Given the description of an element on the screen output the (x, y) to click on. 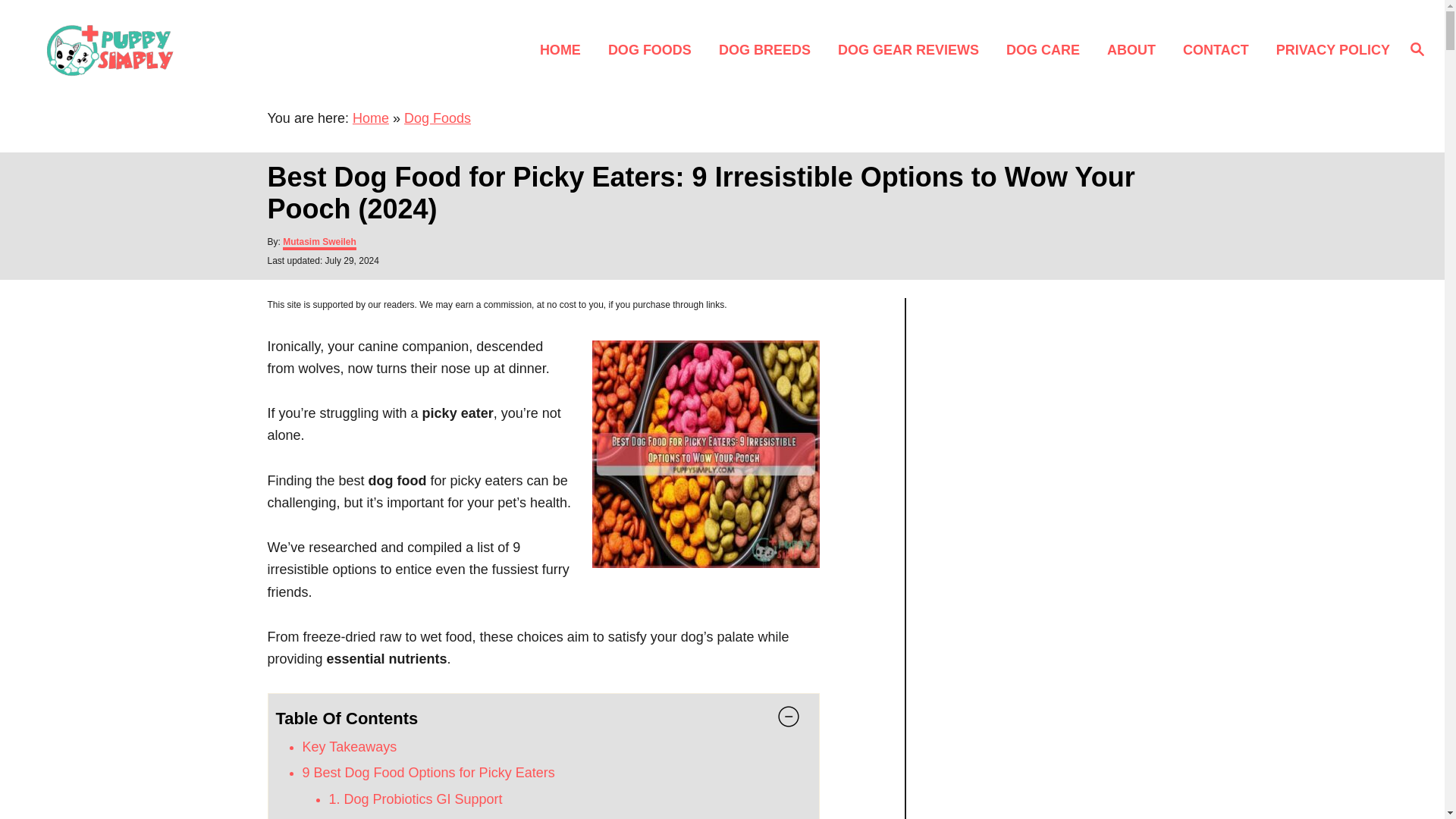
PuppySimply (204, 49)
DOG GEAR REVIEWS (912, 49)
Mutasim Sweileh (319, 243)
Key Takeaways (348, 746)
Magnifying Glass (1416, 48)
ABOUT (1135, 49)
DOG BREEDS (769, 49)
Dog Foods (437, 118)
DOG FOODS (654, 49)
DOG CARE (1047, 49)
1. Dog Probiotics GI Support (415, 798)
9 Best Dog Food Options for Picky Eaters (427, 772)
Home (370, 118)
HOME (564, 49)
